Given the description of an element on the screen output the (x, y) to click on. 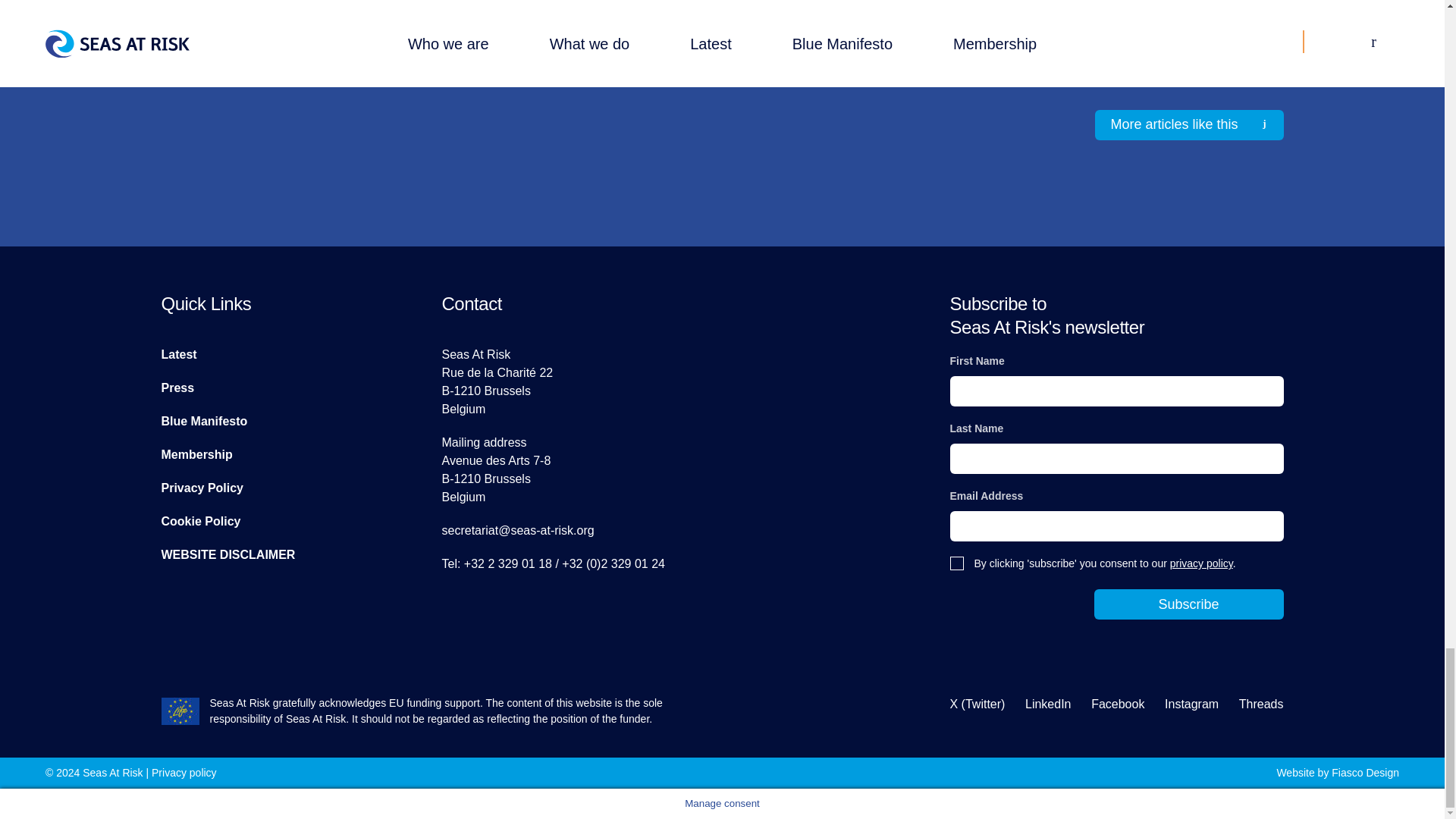
Seas At Risk on LinkedIn (1048, 704)
Subscribe (1187, 603)
Seas At Risk on Threads (1261, 704)
Seas At Risk on Twitter (976, 704)
Seas At Risk on Instagram (1191, 704)
Seas At Risk on Facebook (1117, 704)
Fiasco Design (1365, 772)
gdpr (955, 563)
